Given the description of an element on the screen output the (x, y) to click on. 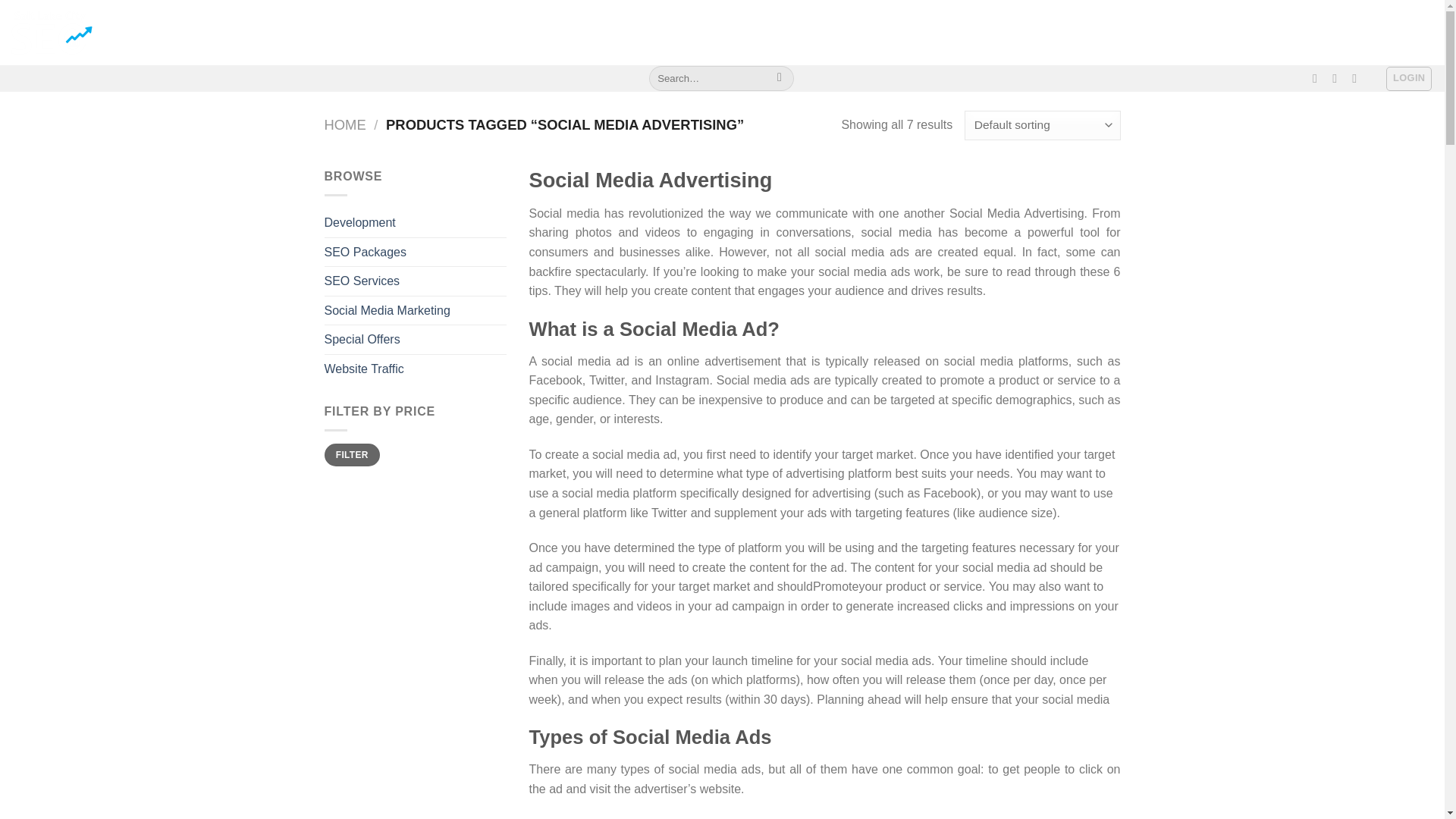
HOME (200, 32)
SPECIAL OFFERS (734, 32)
SEO Services (415, 280)
Development (415, 222)
SEO SERVICES (354, 32)
Special Offers (415, 339)
Website Traffic (415, 369)
Local SEO Salt Lake City - Digital Marketing (87, 32)
LOGIN (1408, 78)
SEO Packages (415, 252)
Follow on Twitter (1337, 78)
Send us an email (1358, 78)
HOME (345, 124)
Login (1408, 78)
SOCIAL SERVICES (447, 32)
